Given the description of an element on the screen output the (x, y) to click on. 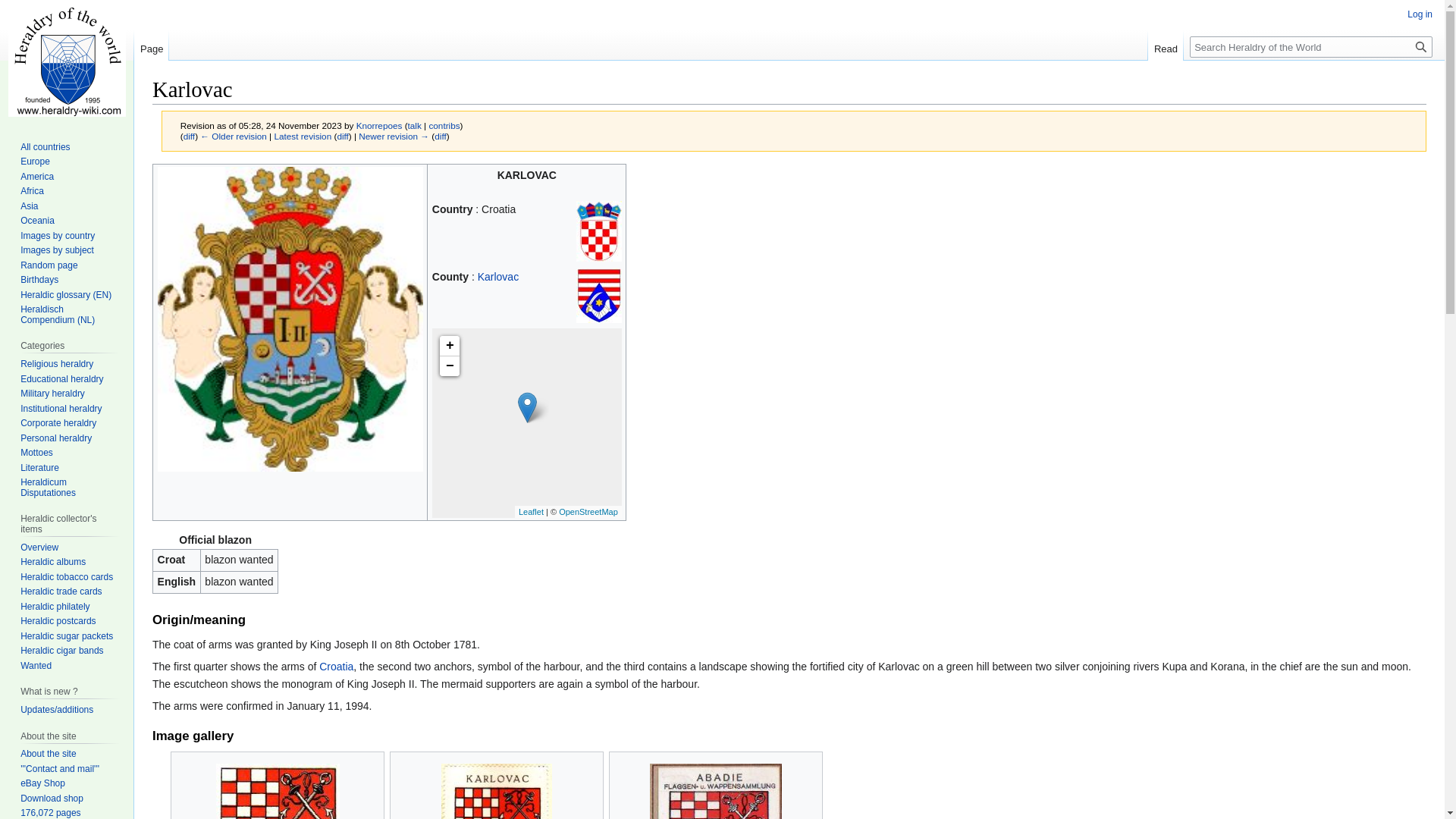
Croatia (335, 666)
talk (414, 125)
Karlovac (233, 135)
Karlovac (341, 135)
contribs (444, 125)
diff (341, 135)
Search (1420, 46)
Go (1420, 46)
Knorrepoes (379, 125)
OpenStreetMap (588, 511)
